Given the description of an element on the screen output the (x, y) to click on. 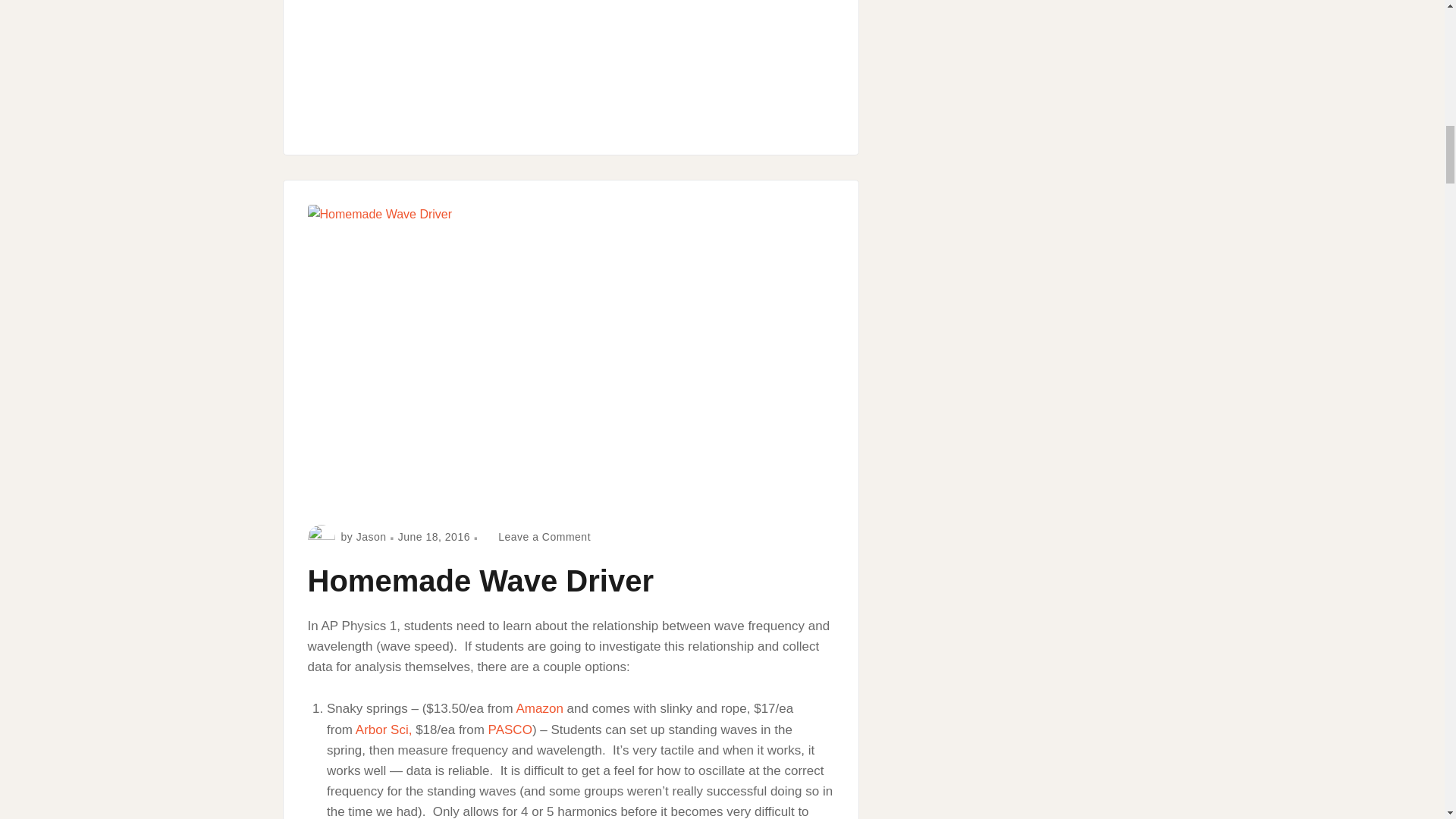
June 18, 2016 (536, 536)
Amazon (433, 536)
Arbor Sci, (538, 708)
Homemade Wave Driver (383, 729)
Jason (480, 580)
PASCO (371, 536)
